Given the description of an element on the screen output the (x, y) to click on. 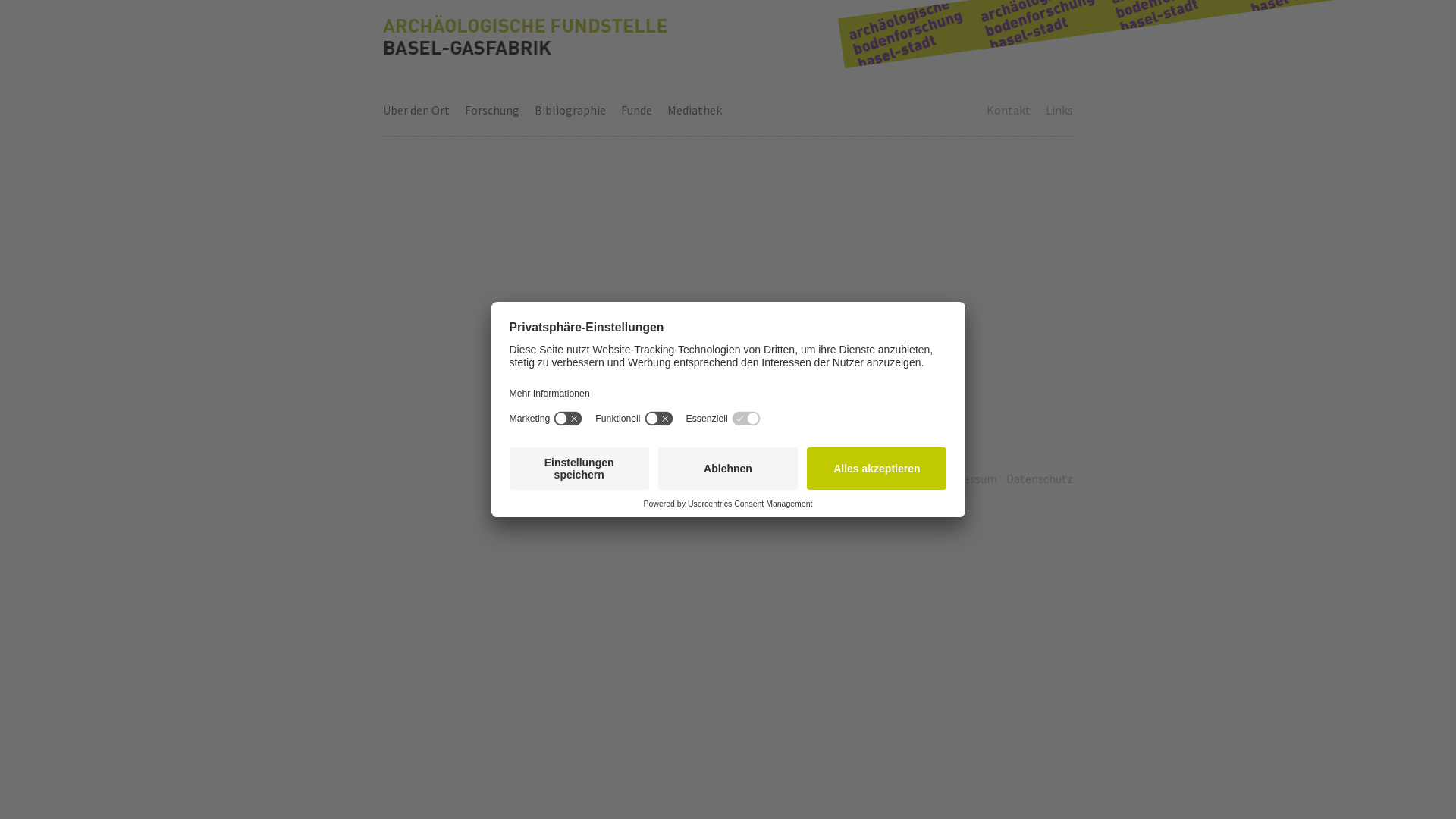
Mediathek Element type: text (694, 109)
Datenschutz Element type: text (1039, 478)
Bibliographie Element type: text (570, 109)
Links Element type: text (1059, 109)
Kontakt Element type: text (1008, 109)
Funde Element type: text (636, 109)
Forschung Element type: text (492, 109)
Impressum Element type: text (967, 478)
